Given the description of an element on the screen output the (x, y) to click on. 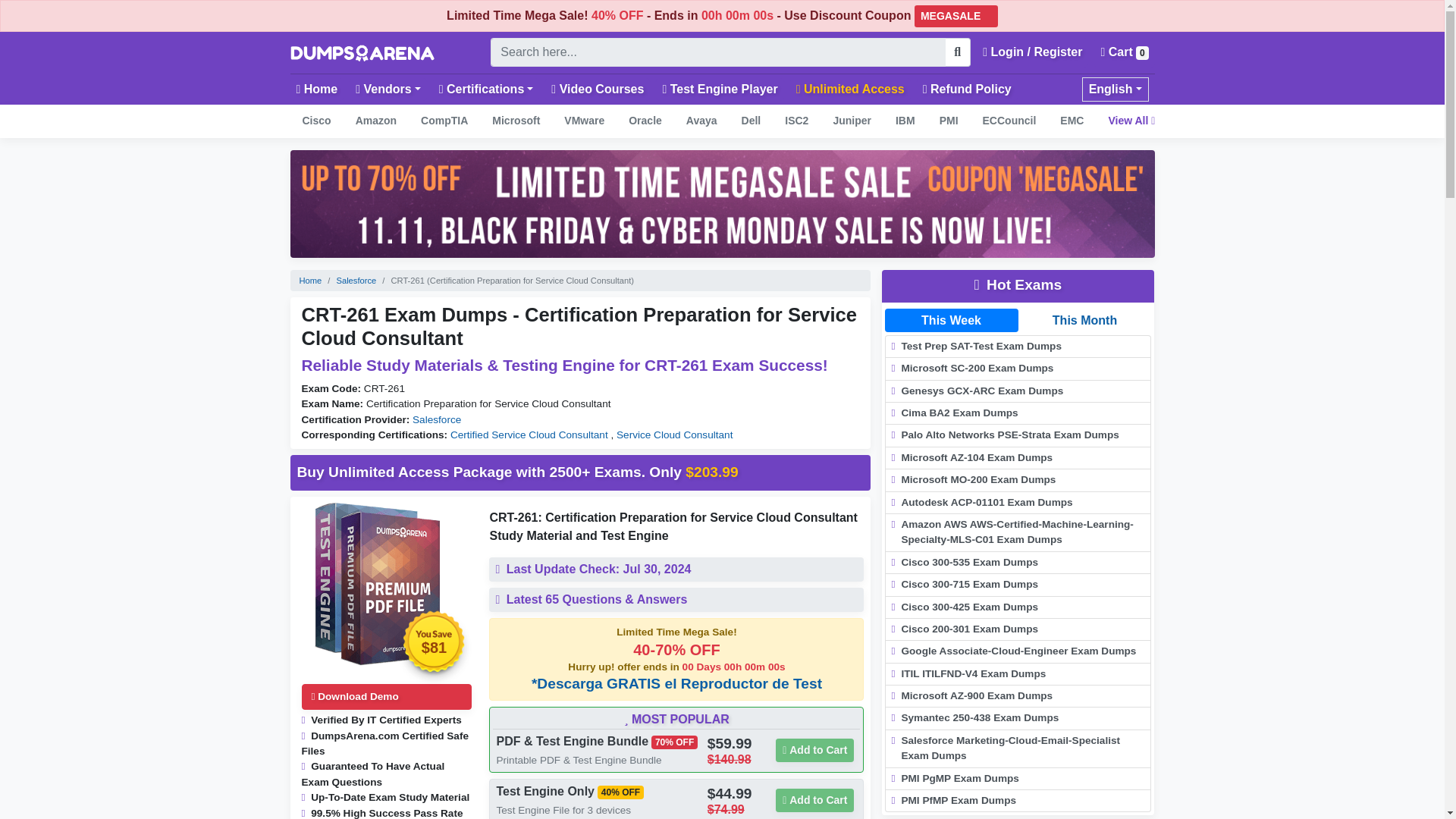
Vendors (387, 88)
Home (316, 88)
MEGASALE (955, 15)
Cart 0 (1124, 51)
